Given the description of an element on the screen output the (x, y) to click on. 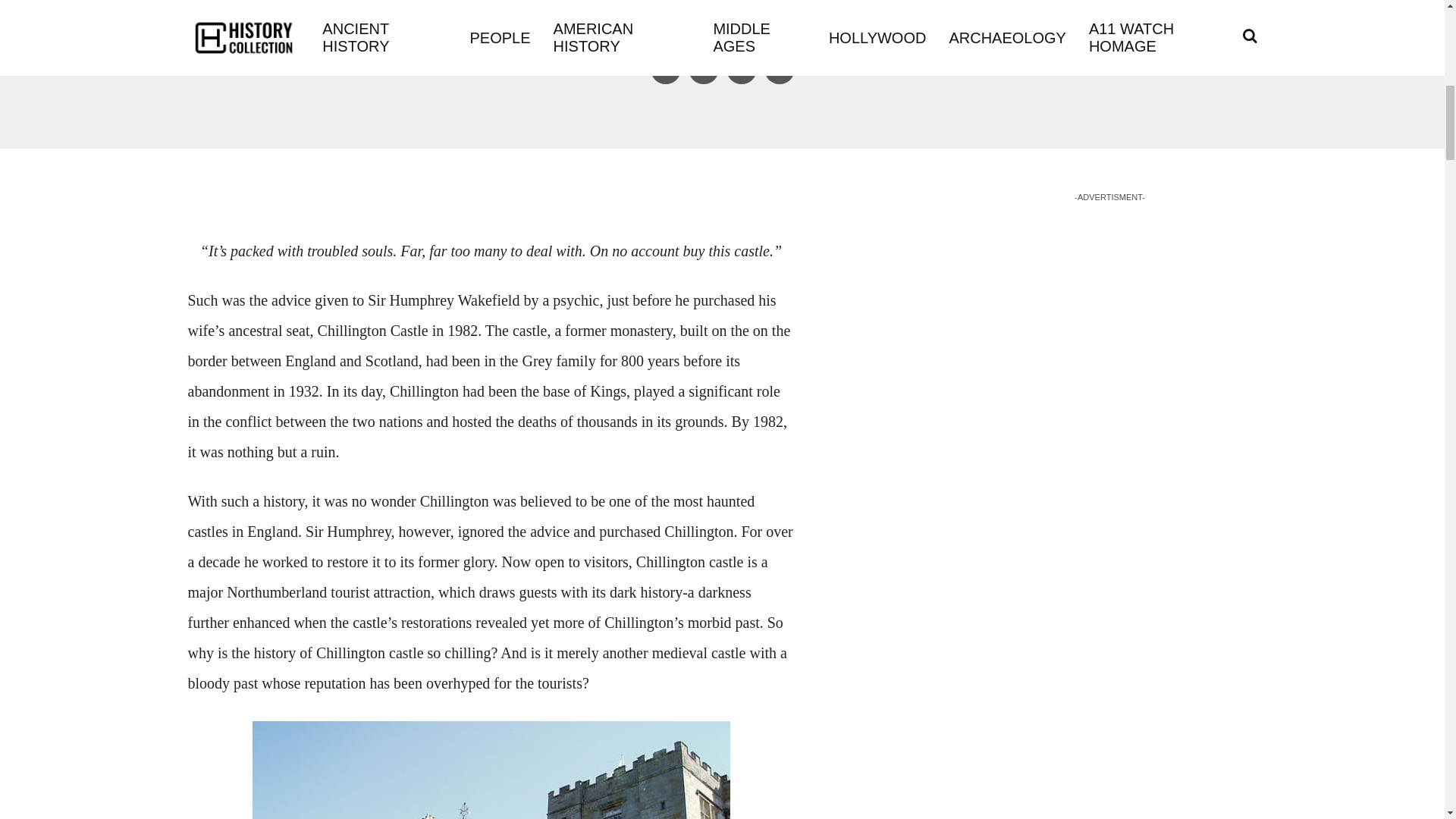
Natasha sheldon (670, 25)
